Given the description of an element on the screen output the (x, y) to click on. 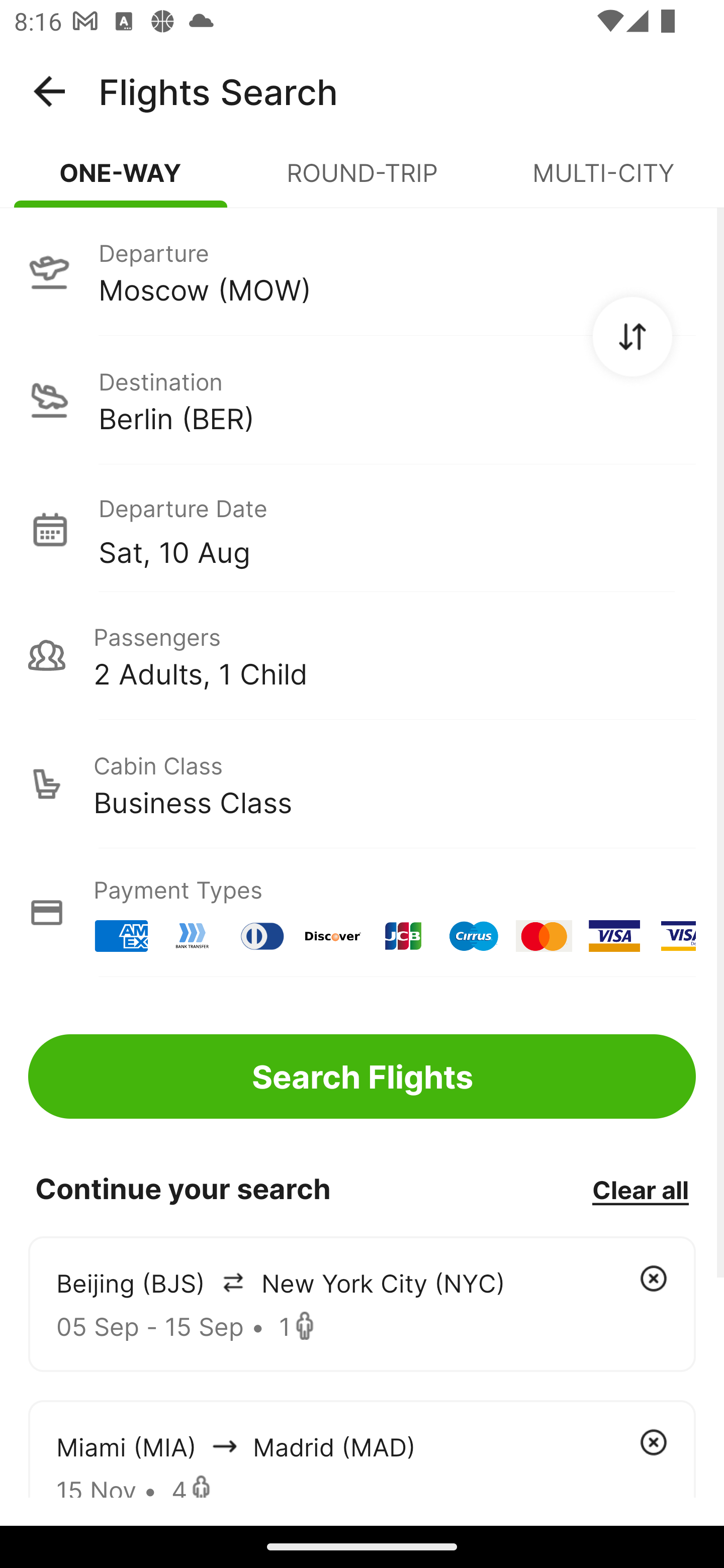
ONE-WAY (120, 180)
ROUND-TRIP (361, 180)
MULTI-CITY (603, 180)
Departure Moscow (MOW) (362, 270)
Destination Berlin (BER) (362, 400)
Departure Date Sat, 10 Aug (396, 528)
Passengers 2 Adults, 1 Child (362, 655)
Cabin Class Business Class (362, 783)
Payment Types (362, 912)
Search Flights (361, 1075)
Clear all (640, 1189)
Miami (MIA)  arrowIcon  Madrid (MAD) 15 Nov •  4  (361, 1448)
